Given the description of an element on the screen output the (x, y) to click on. 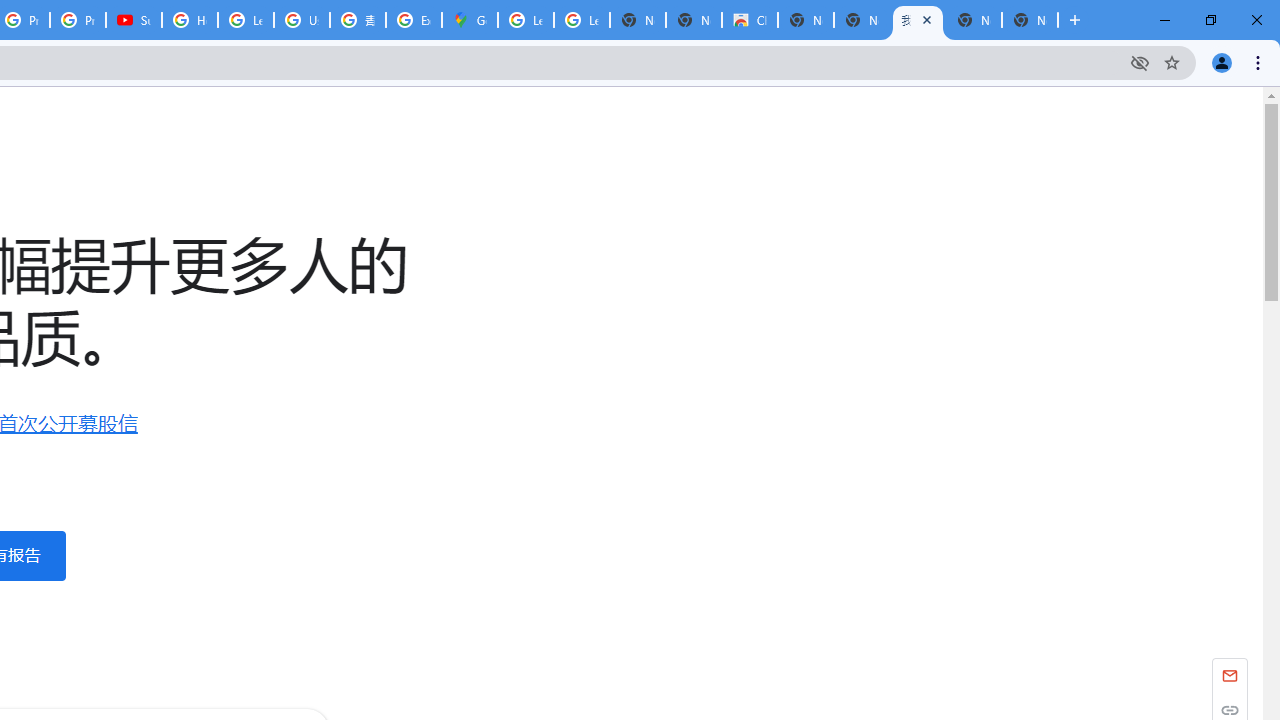
Explore new street-level details - Google Maps Help (413, 20)
